Given the description of an element on the screen output the (x, y) to click on. 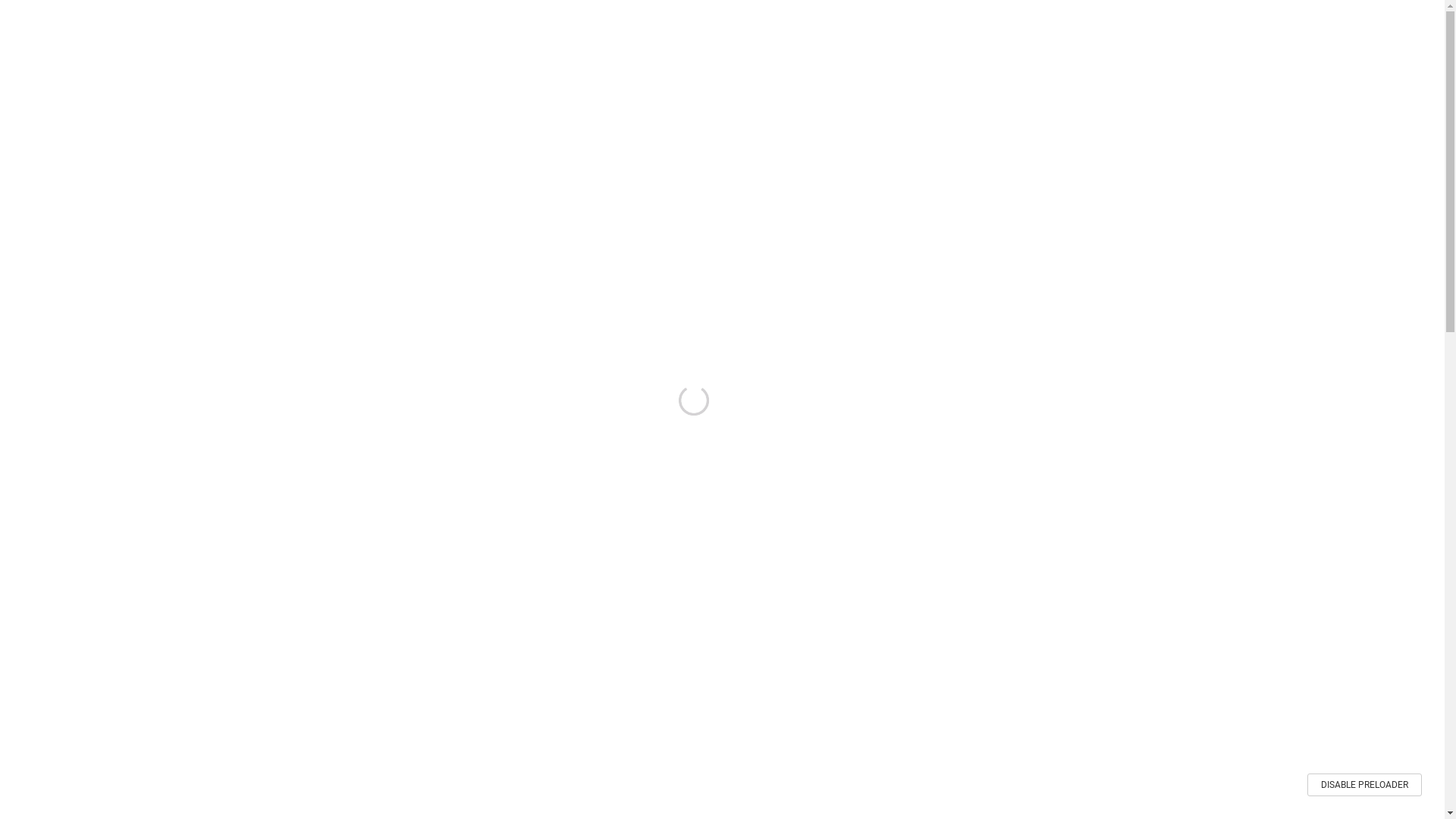
Mei 2023 Element type: text (947, 584)
advies & nieuws Element type: text (1104, 128)
Januari 2022 Element type: text (957, 781)
Mei 2022 Element type: text (947, 715)
December 2021 Element type: text (963, 803)
advies & nieuws Element type: text (607, 26)
Maart 2023 Element type: text (954, 627)
Februari 2022 Element type: text (959, 759)
STEL UW VRAAG Element type: text (1093, 462)
April 2023 Element type: text (950, 605)
Expertises Element type: text (536, 26)
Contact Element type: text (788, 26)
Oktober 2022 Element type: text (958, 693)
Maart 2022 Element type: text (954, 737)
Uw partner Element type: text (474, 26)
Vacature Element type: text (677, 26)
Home Element type: text (1040, 128)
Ask2.legal Element type: text (735, 26)
Februari 2023 Element type: text (959, 649)
Home Element type: text (423, 26)
Januari 2023 Element type: text (957, 671)
Juni 2023 Element type: text (949, 562)
